Given the description of an element on the screen output the (x, y) to click on. 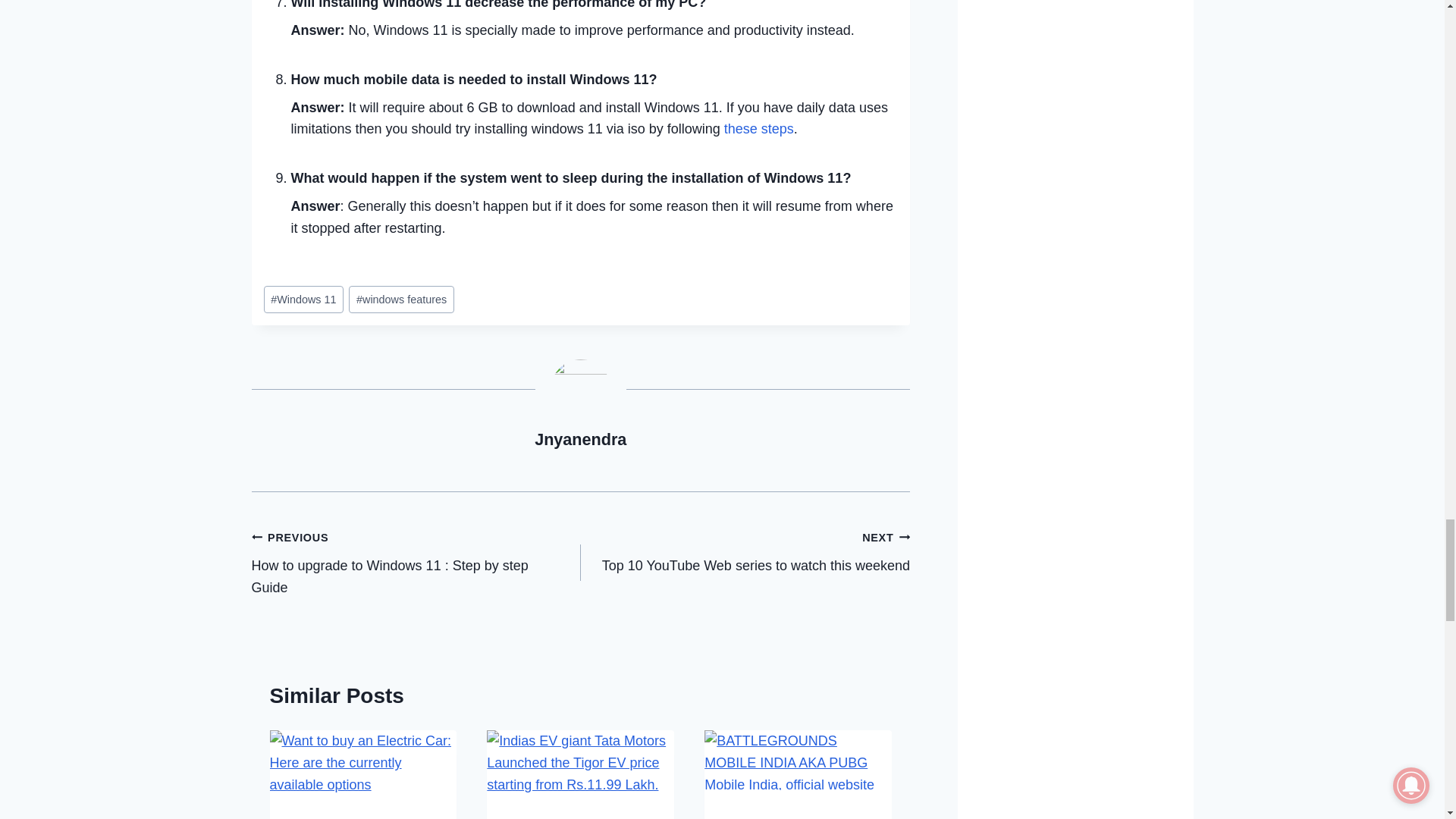
these steps (758, 128)
